Given the description of an element on the screen output the (x, y) to click on. 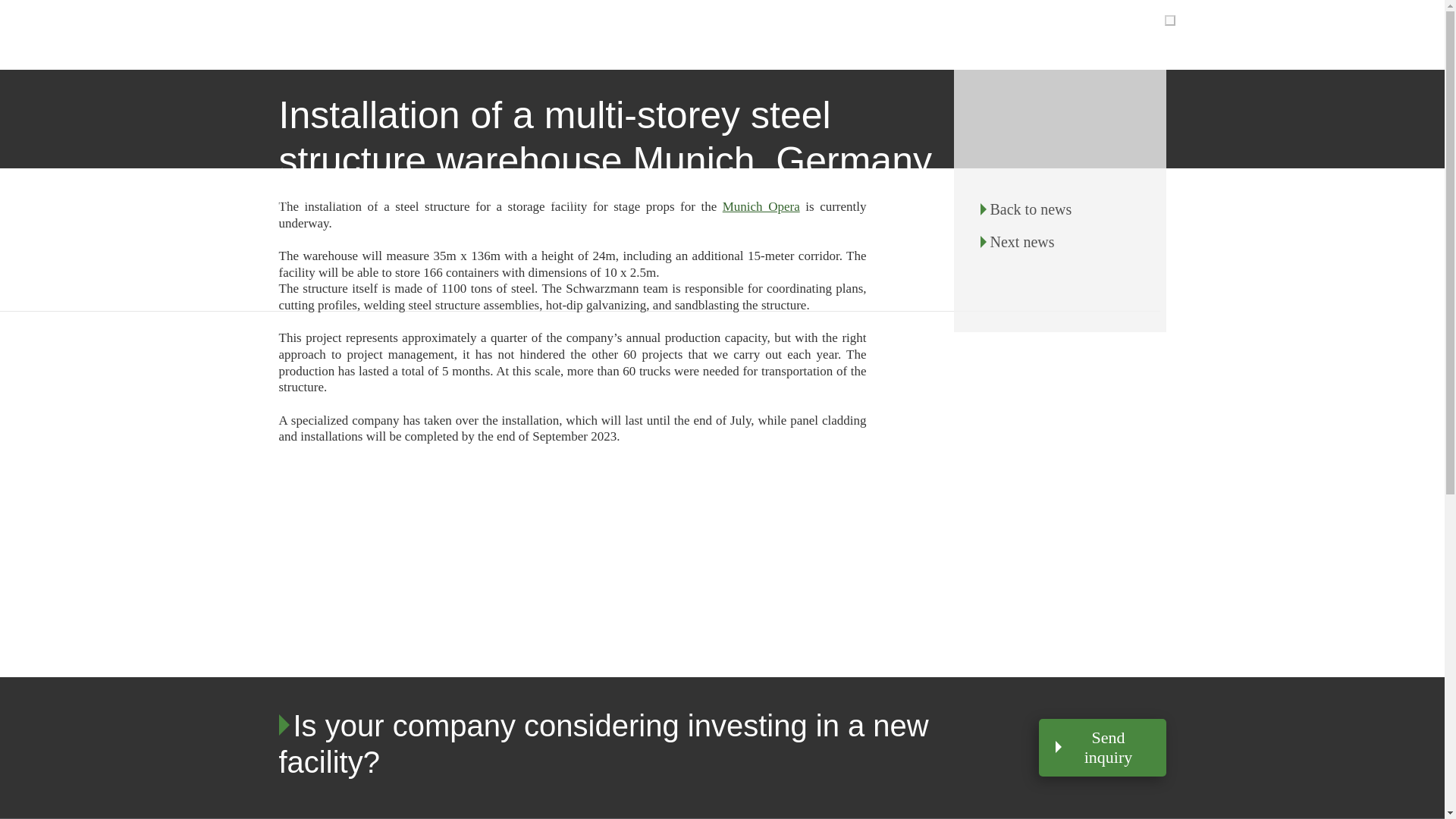
Structure types (580, 111)
News (580, 221)
Industries (655, 92)
About Us (580, 185)
Projects (580, 148)
Industries (580, 74)
